Given the description of an element on the screen output the (x, y) to click on. 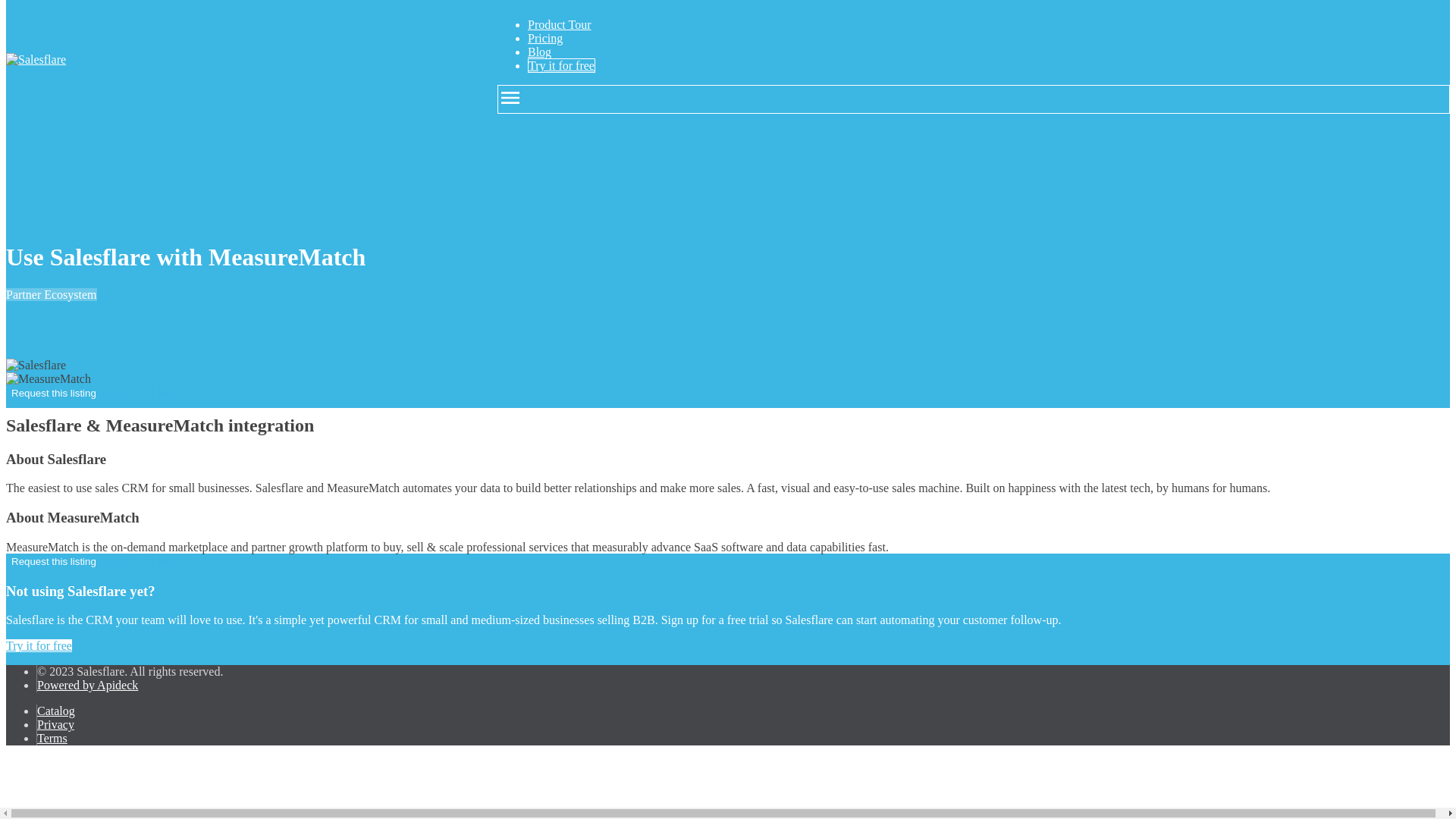
Try it for free (38, 645)
Powered by Apideck (87, 684)
Salesflare (35, 59)
Privacy (55, 724)
Terms (51, 738)
Catalog (56, 710)
Blog (539, 51)
Try it for free (561, 65)
Pricing (544, 38)
Product Tour (559, 24)
Request this listing (53, 392)
MeasureMatch (47, 378)
Salesflare (35, 365)
Explore all listings (147, 560)
Explore all listings (147, 391)
